Given the description of an element on the screen output the (x, y) to click on. 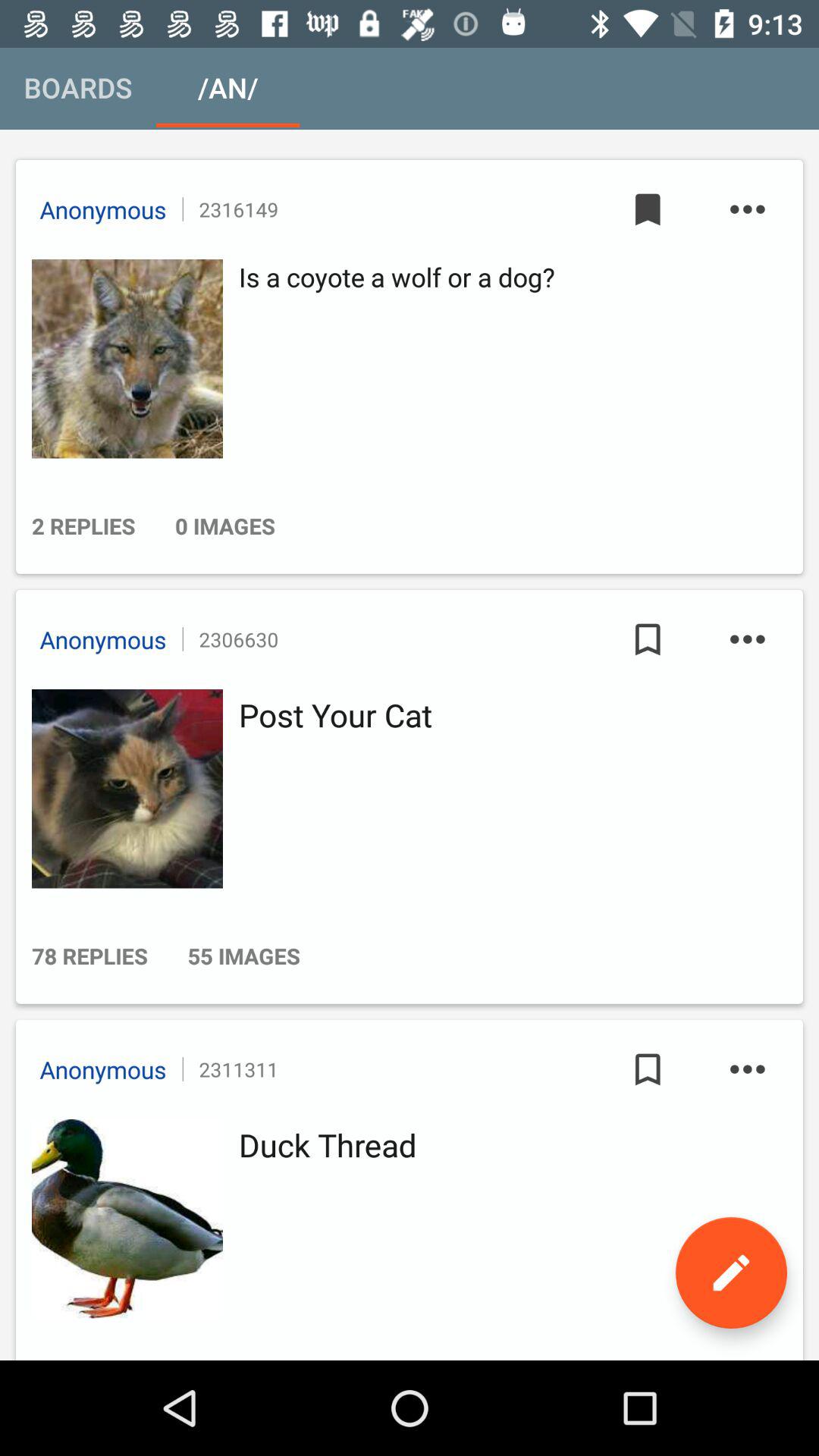
click the image (122, 788)
